Given the description of an element on the screen output the (x, y) to click on. 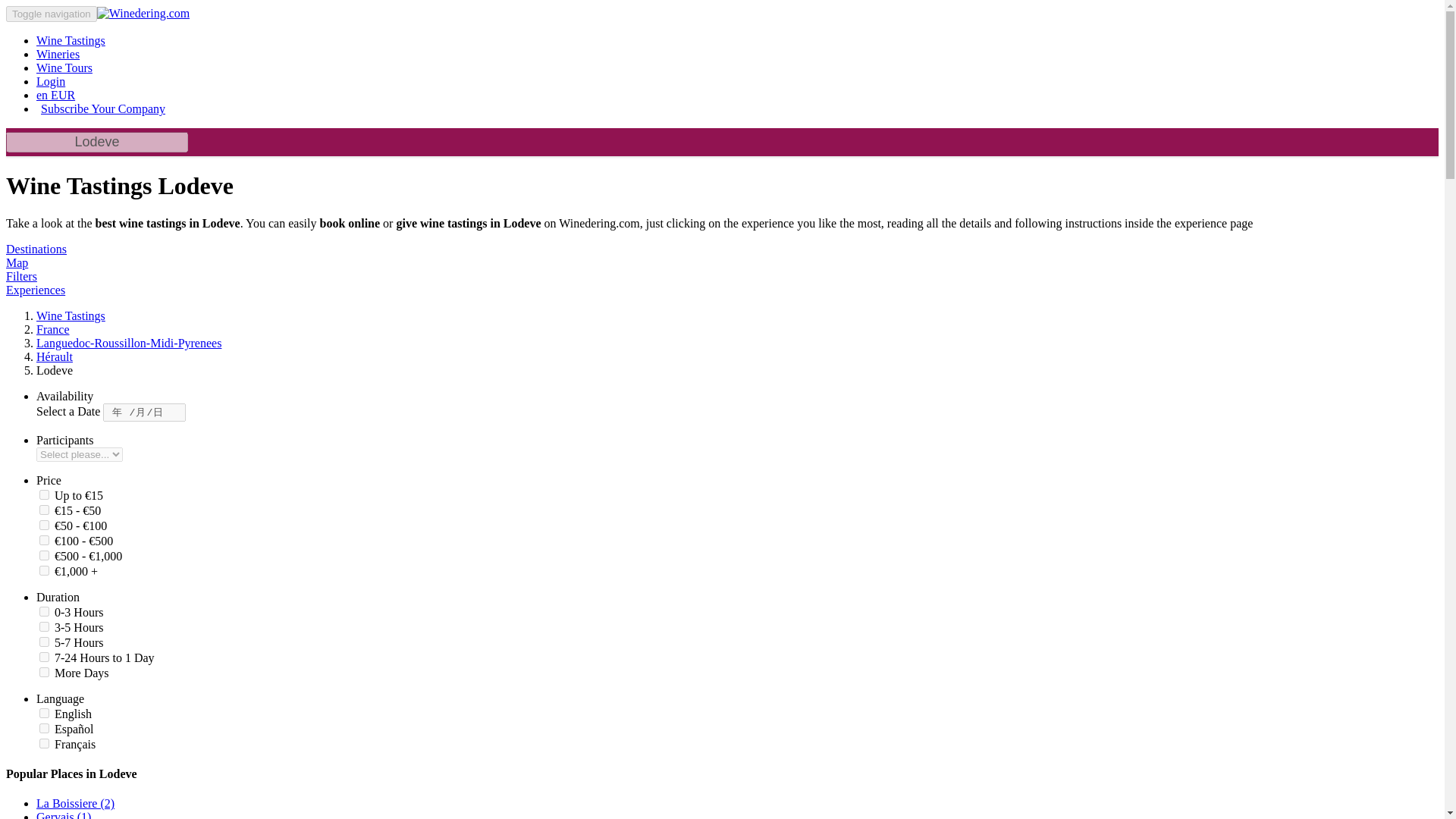
Languedoc-Roussillon-Midi-Pyrenees (128, 342)
7-24 (44, 656)
Wine Tastings (70, 40)
France (52, 328)
24-480 (44, 672)
0-1500 (44, 494)
es (44, 728)
Toggle navigation (51, 13)
Wine Tastings (70, 315)
1501-5000 (44, 510)
5001-10000 (44, 524)
100000-999999999 (44, 570)
Destinations (35, 248)
Login (50, 81)
5-7 (44, 642)
